Given the description of an element on the screen output the (x, y) to click on. 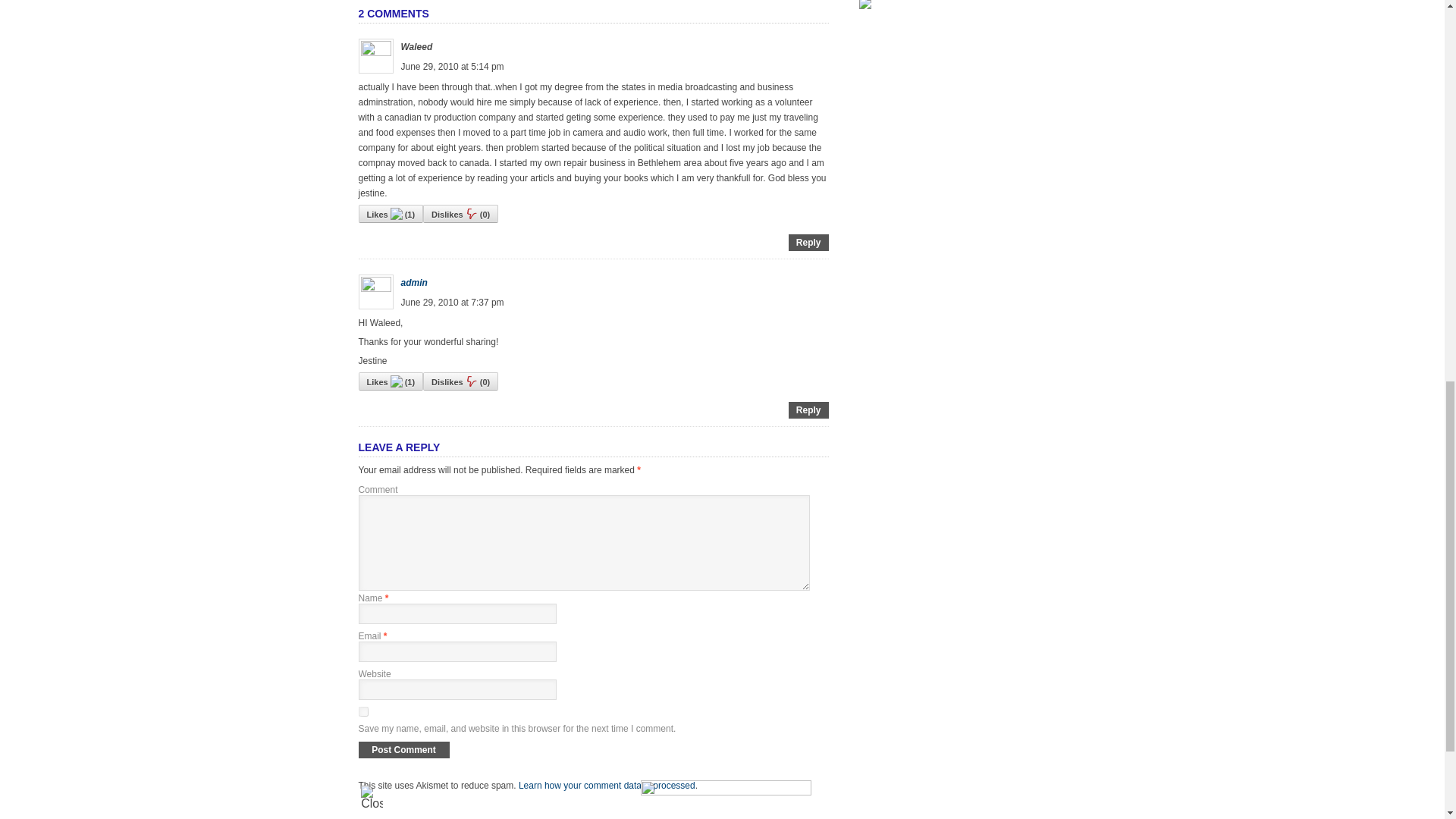
Reply (808, 242)
Post Comment (403, 750)
yes (363, 711)
Post Comment (403, 750)
Learn how your comment data is processed (606, 785)
Reply (808, 409)
admin (413, 282)
